Given the description of an element on the screen output the (x, y) to click on. 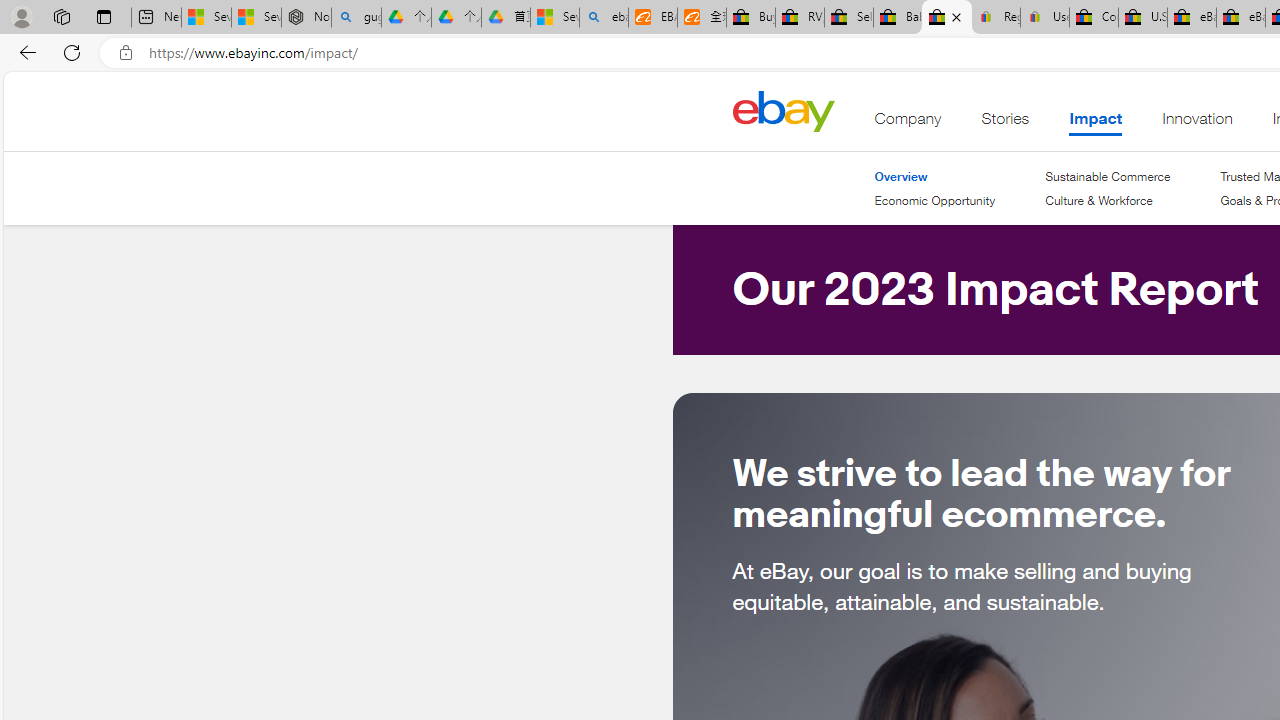
U.S. State Privacy Disclosures - eBay Inc. (1142, 17)
Overview (934, 176)
Stories (1005, 123)
Buy Auto Parts & Accessories | eBay (750, 17)
Sustainable Commerce (1107, 176)
Stories (1005, 123)
Economic Opportunity (934, 200)
Culture & Workforce (1107, 201)
